Given the description of an element on the screen output the (x, y) to click on. 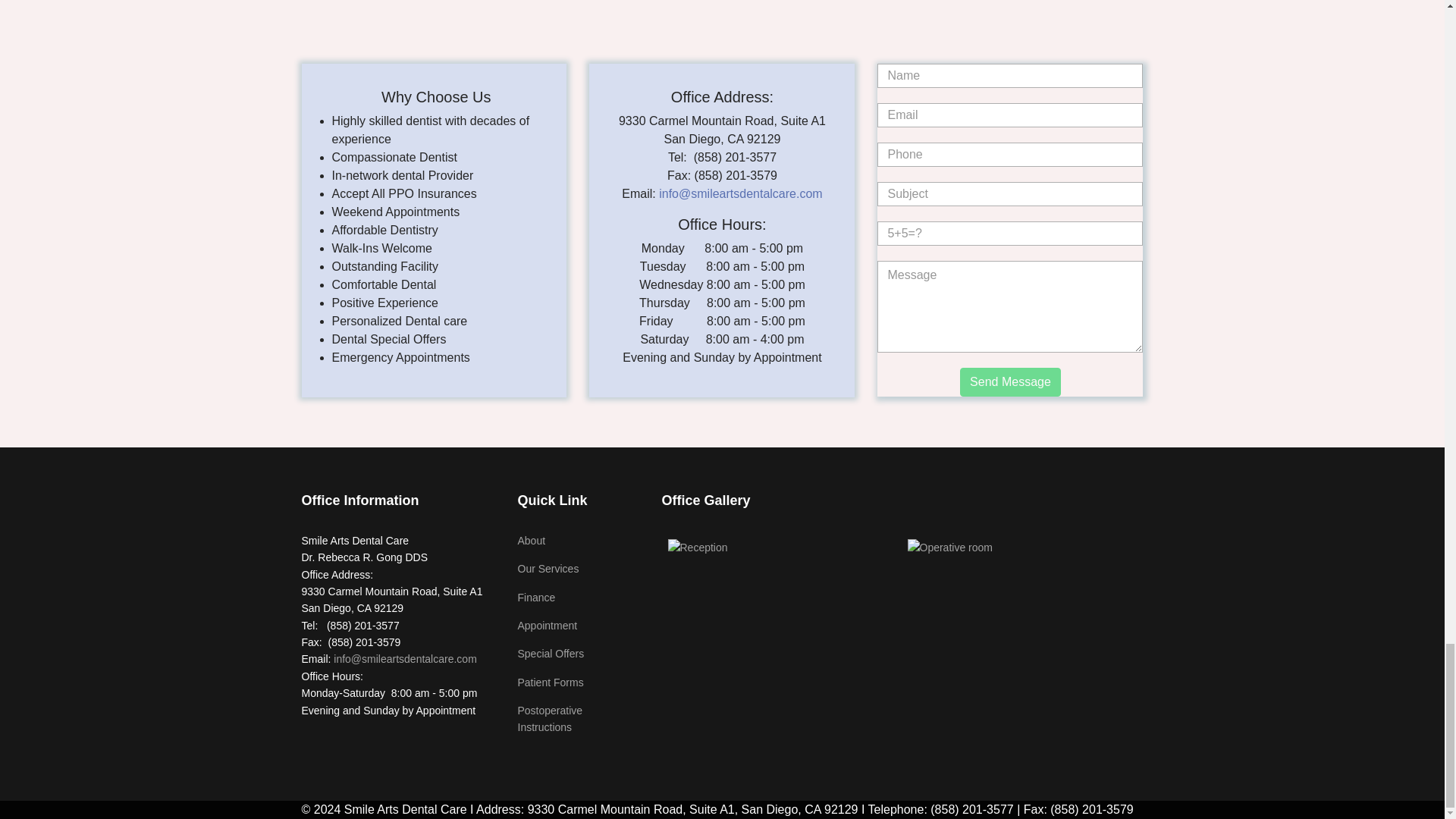
Postoperative Instructions (577, 718)
Special Offers (577, 653)
About (577, 540)
Send Message (1010, 381)
Finance (577, 597)
Patient Forms (577, 682)
Our Services (577, 568)
Appointment (577, 625)
